Given the description of an element on the screen output the (x, y) to click on. 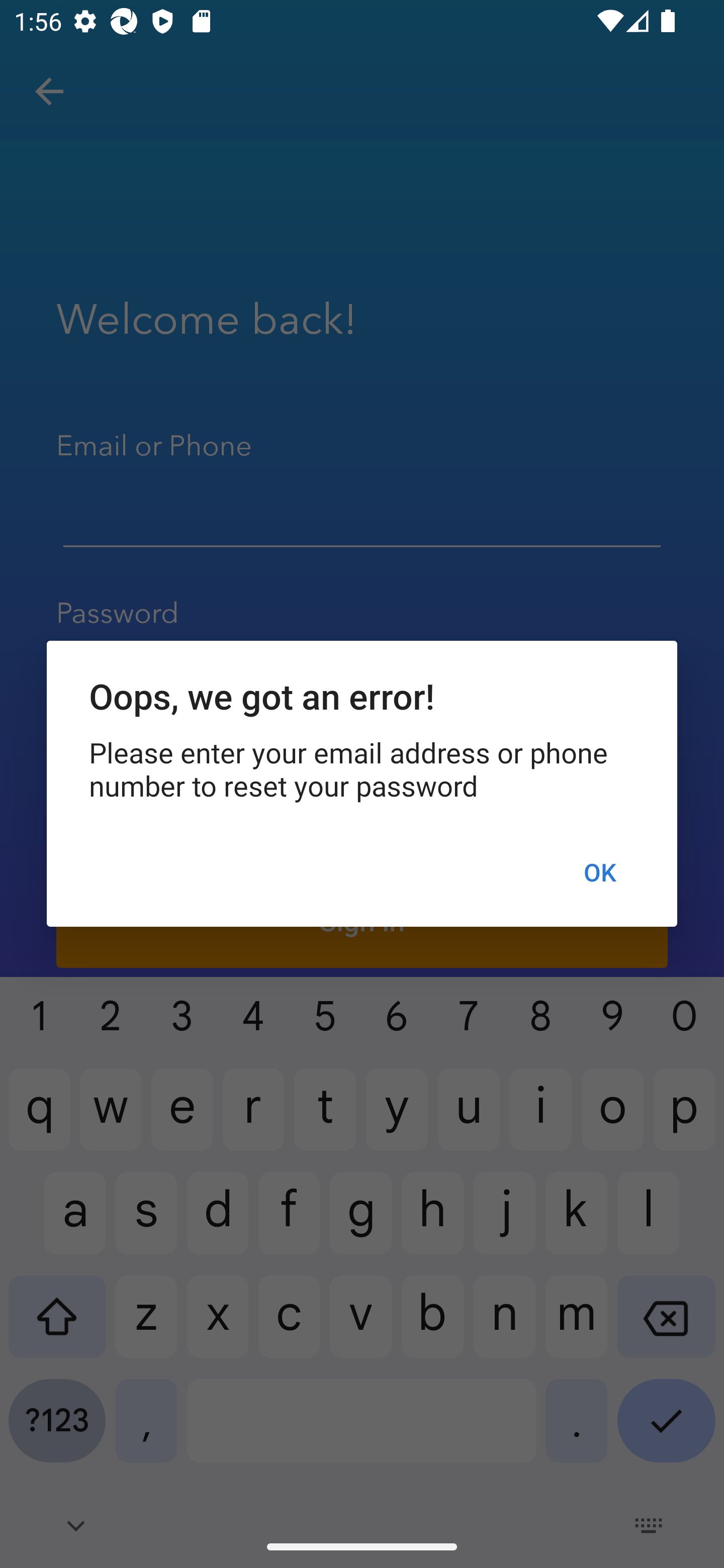
OK (599, 872)
